Given the description of an element on the screen output the (x, y) to click on. 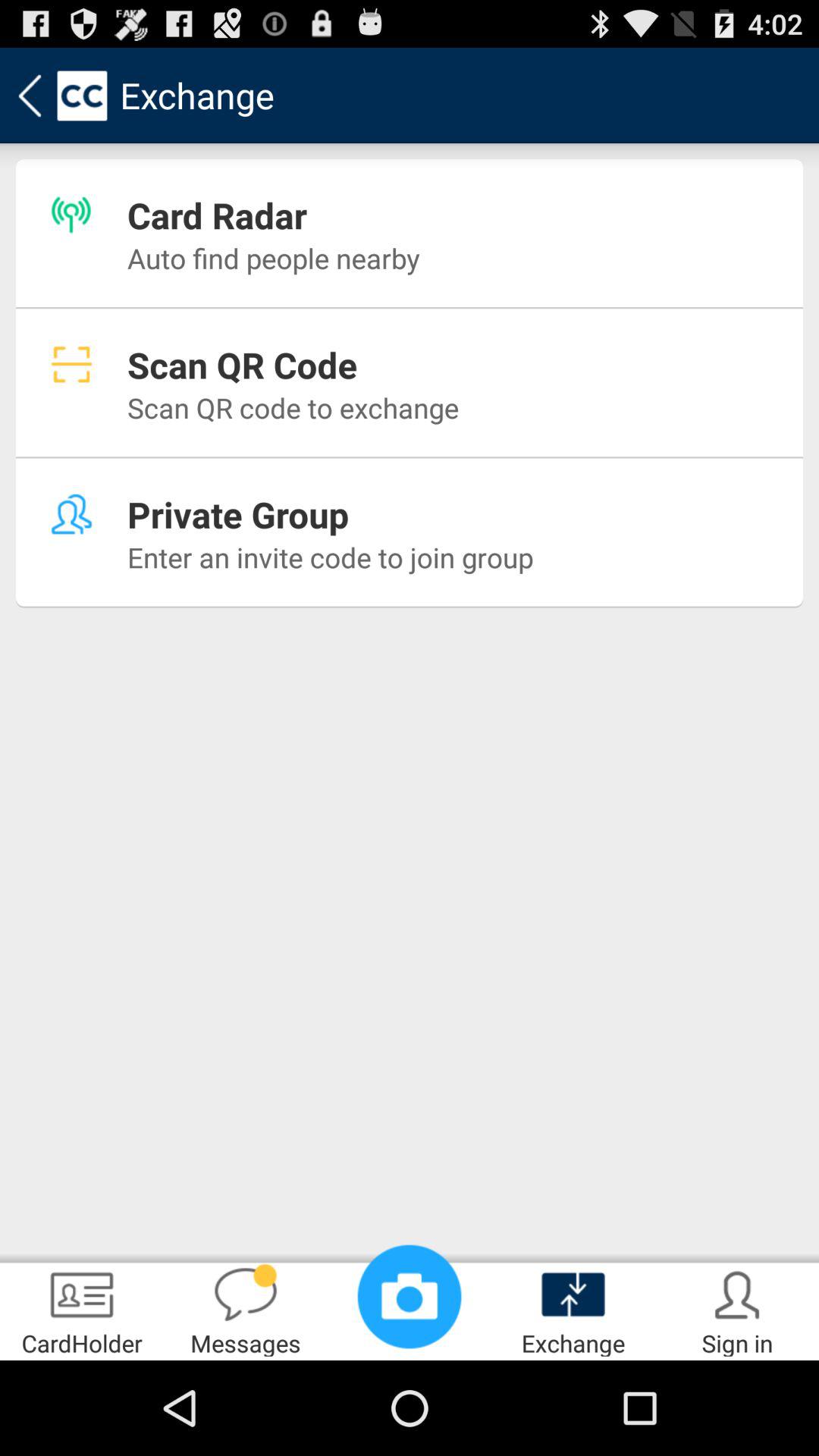
open the item to the left of exchange icon (409, 1296)
